Given the description of an element on the screen output the (x, y) to click on. 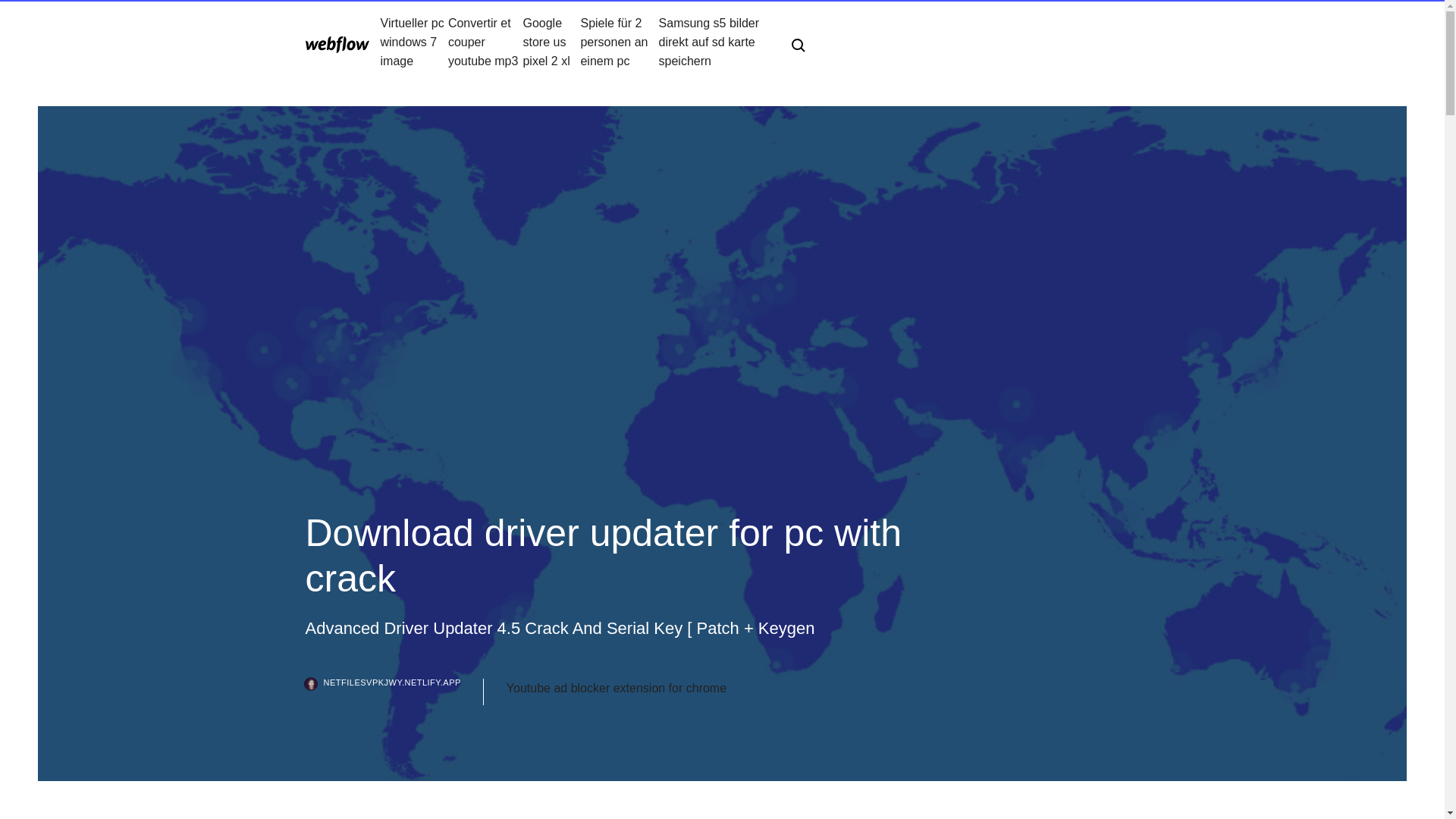
Youtube ad blocker extension for chrome (616, 687)
NETFILESVPKJWY.NETLIFY.APP (393, 691)
Convertir et couper youtube mp3 (485, 41)
Google store us pixel 2 xl (550, 41)
Samsung s5 bilder direkt auf sd karte speichern (713, 41)
Virtueller pc windows 7 image (414, 41)
